Given the description of an element on the screen output the (x, y) to click on. 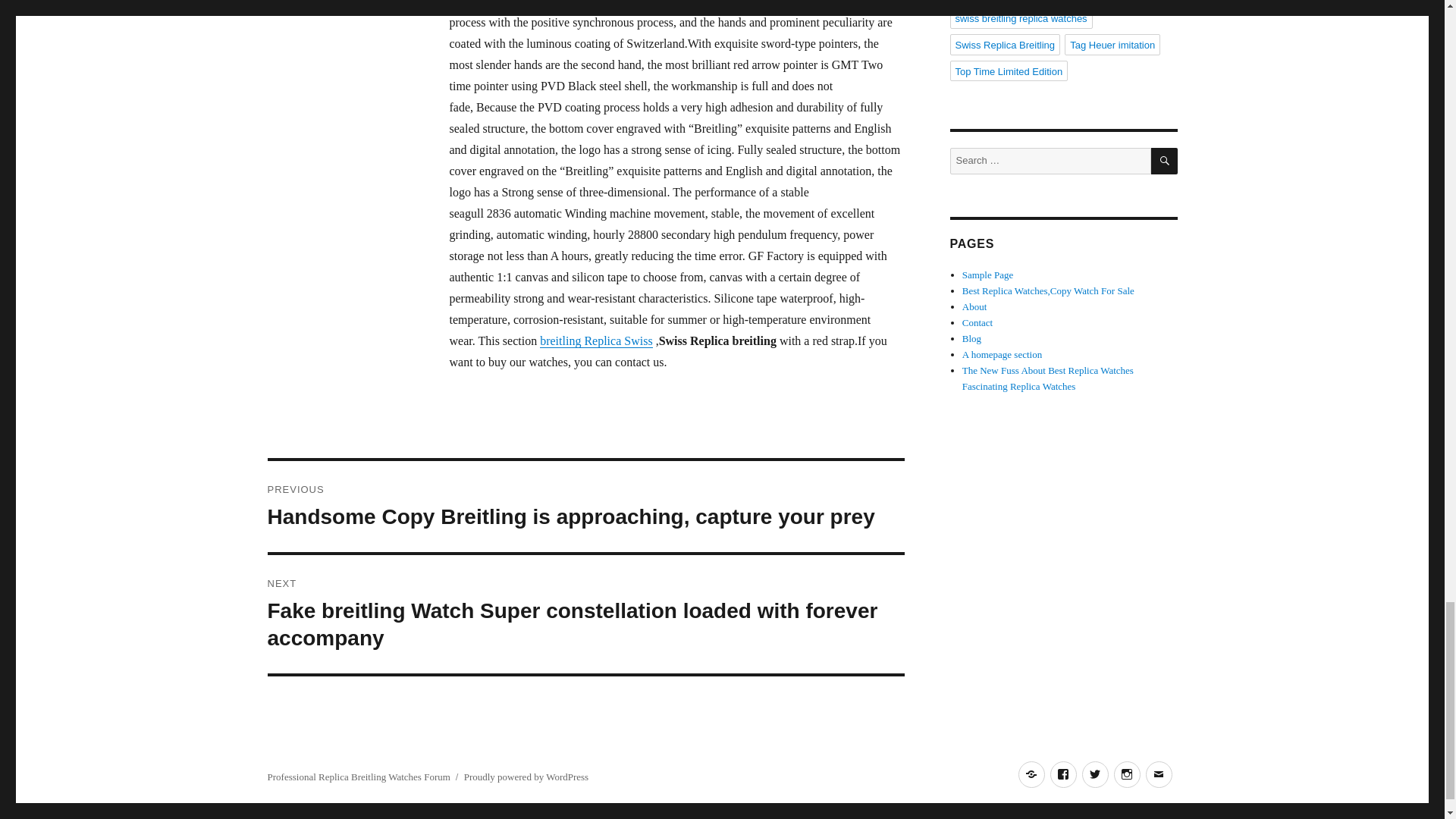
breitling Replica Swiss (596, 340)
